Given the description of an element on the screen output the (x, y) to click on. 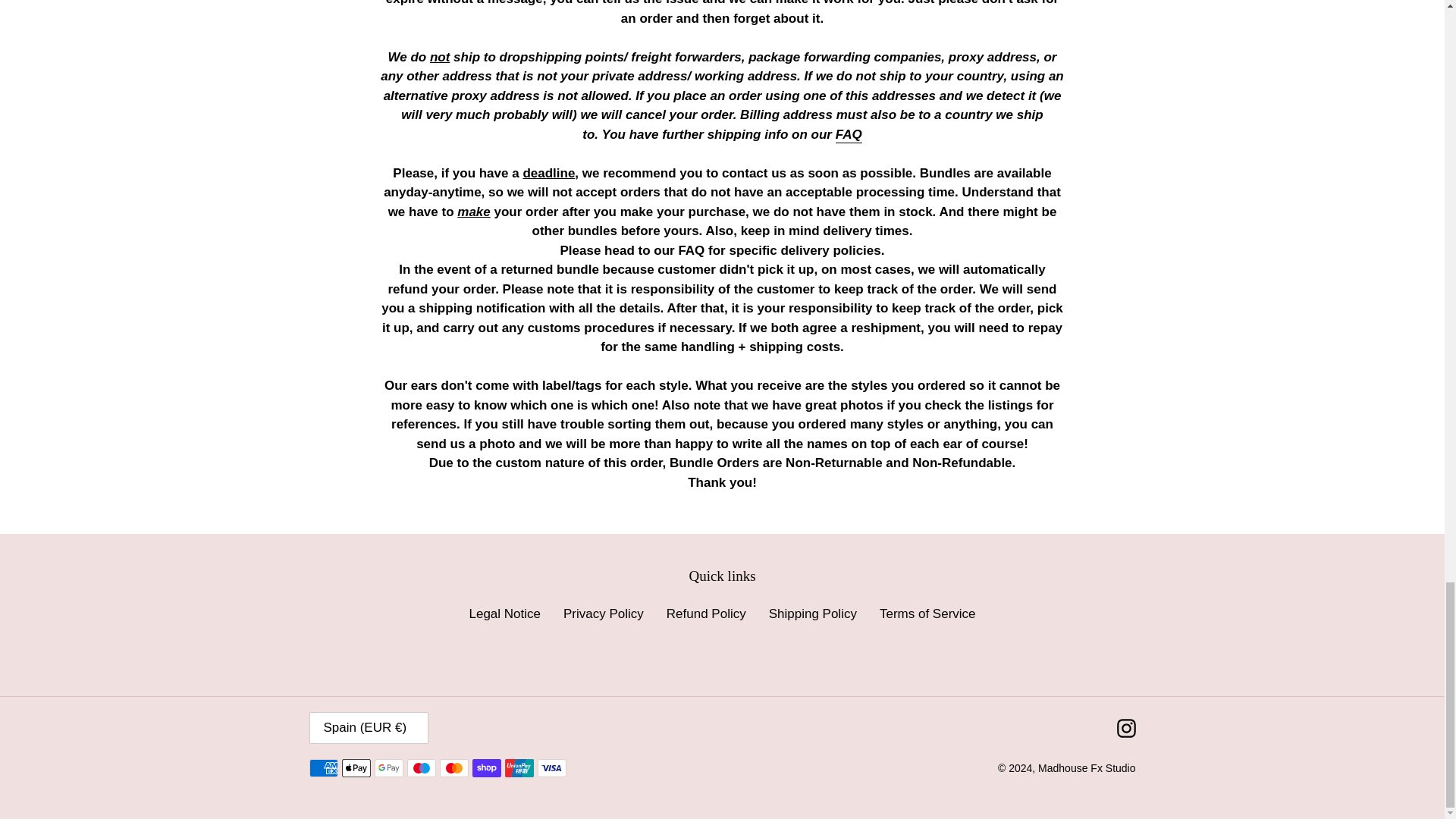
FAQ (848, 135)
Terms of Service (927, 613)
Legal Notice (504, 613)
FAQ (848, 135)
Shipping Policy (812, 613)
Privacy Policy (603, 613)
Refund Policy (705, 613)
